Given the description of an element on the screen output the (x, y) to click on. 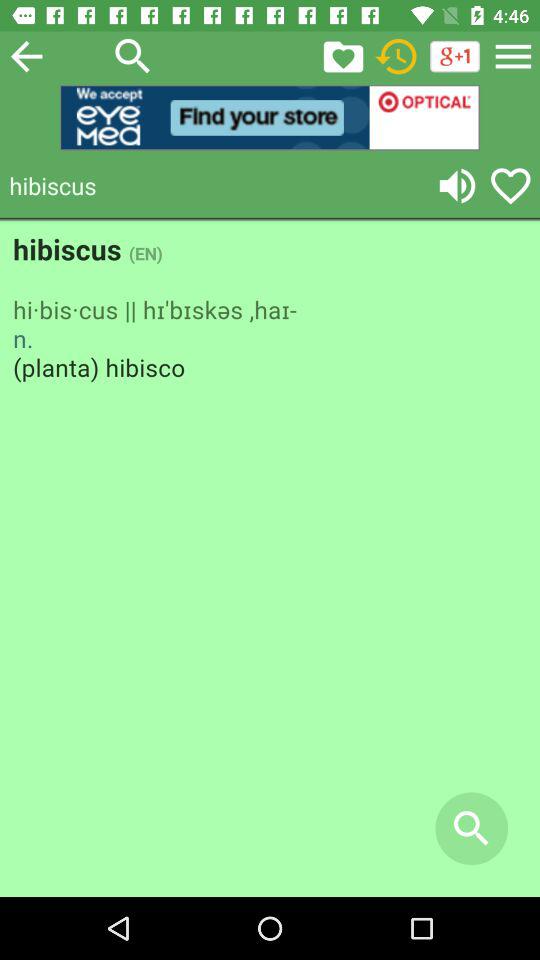
open search bar (133, 56)
